Given the description of an element on the screen output the (x, y) to click on. 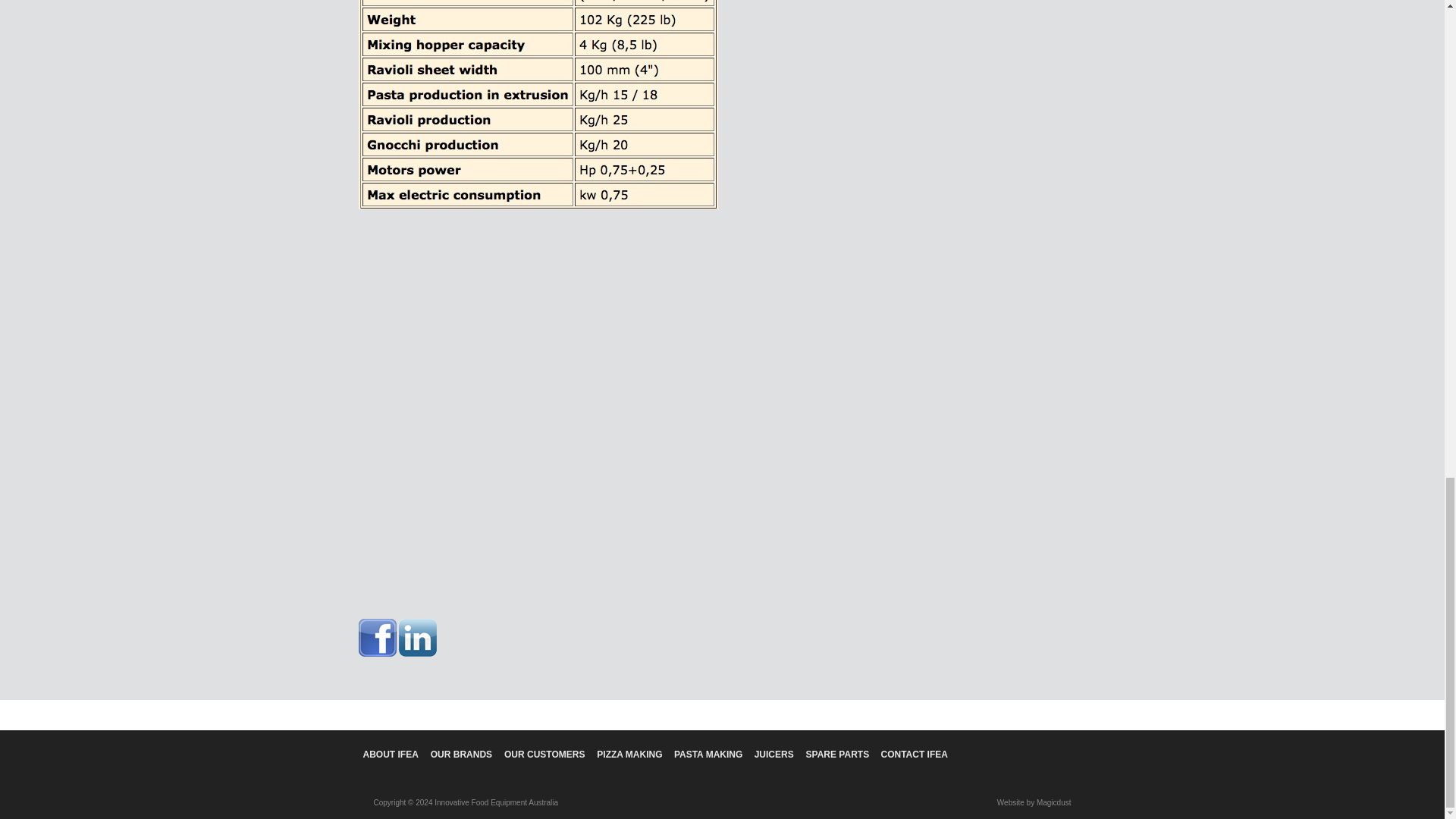
Italgi Multipla (547, 390)
